Given the description of an element on the screen output the (x, y) to click on. 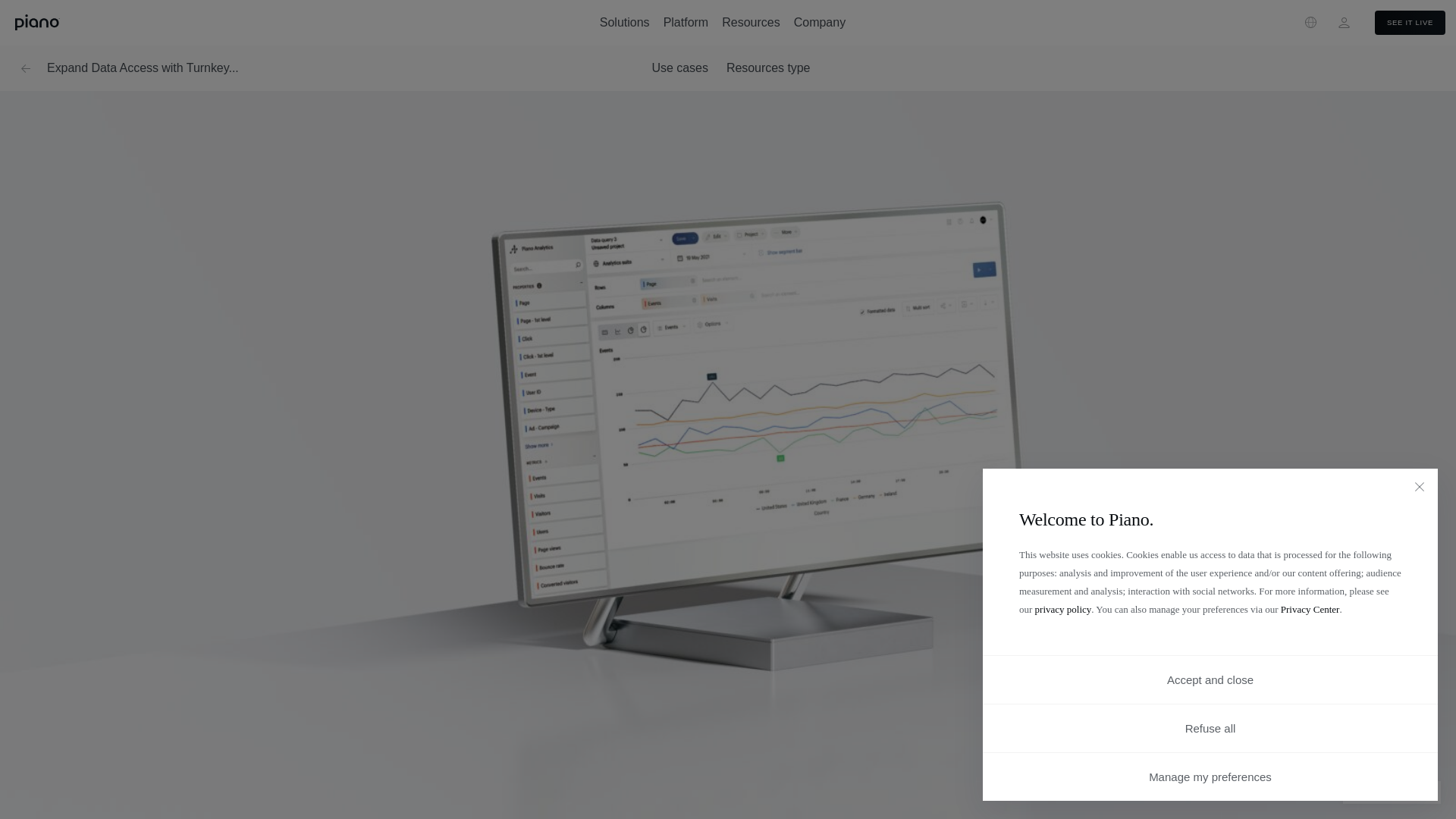
Piano Privacy Policy (1063, 609)
Manage my preferences (1210, 776)
Use cases (679, 67)
Resources type (768, 67)
Refuse all (1210, 727)
Accept and close (1210, 679)
